Given the description of an element on the screen output the (x, y) to click on. 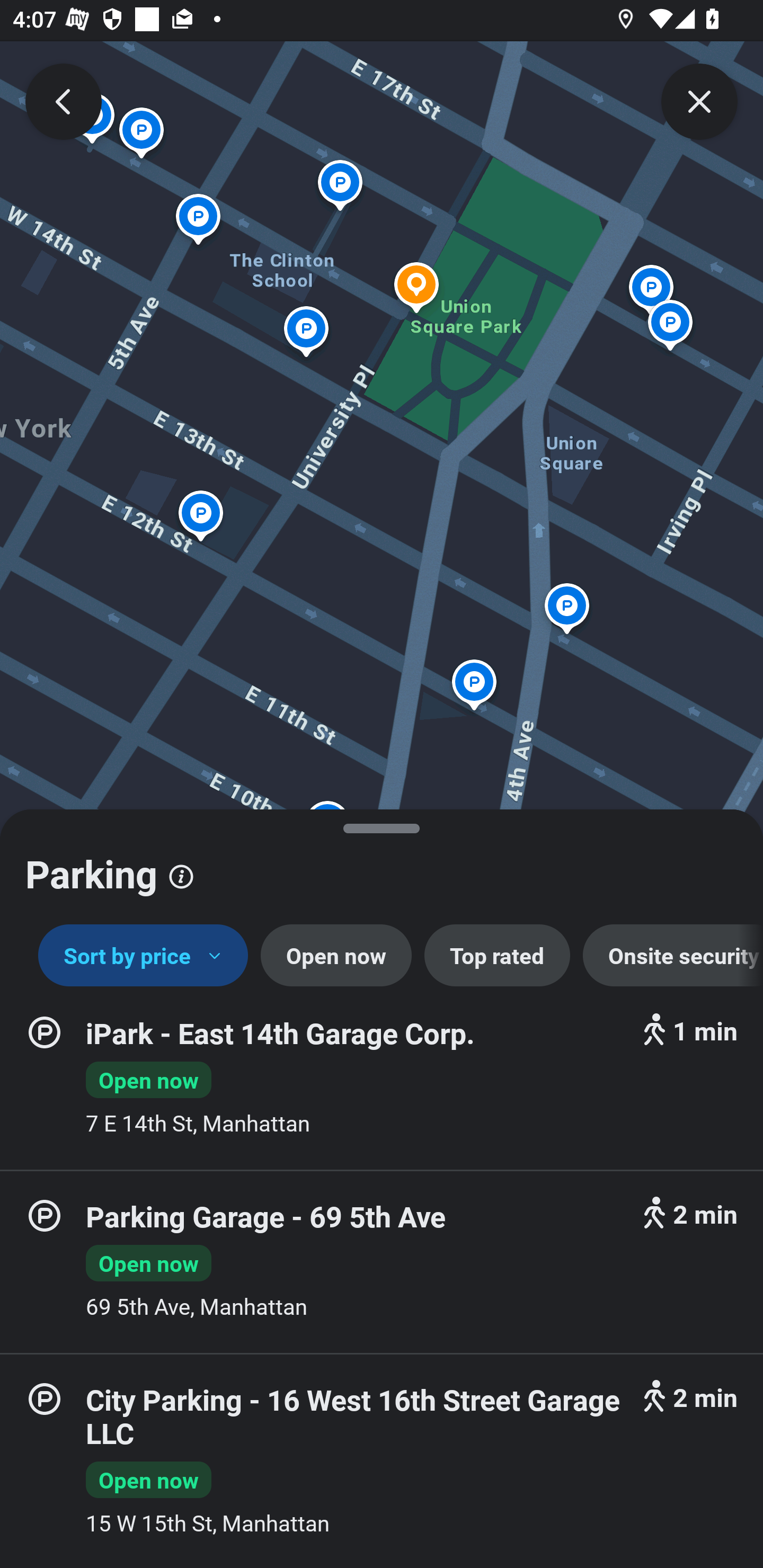
Parking (381, 867)
Sort by price (142, 955)
Open now (336, 955)
Top rated (496, 955)
Onsite security (672, 955)
